Given the description of an element on the screen output the (x, y) to click on. 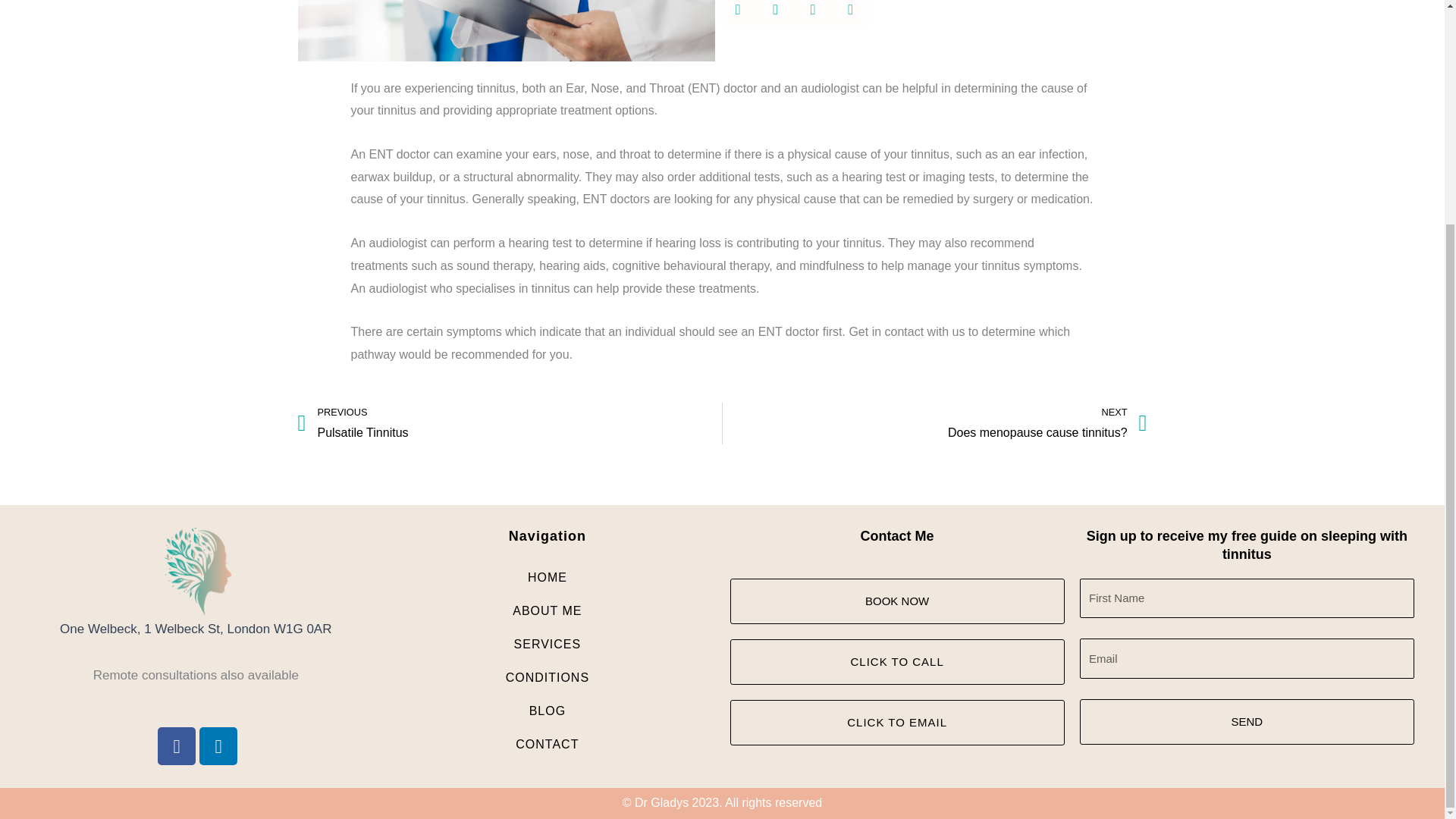
BLOG (547, 711)
HOME (547, 577)
SERVICES (547, 644)
ABOUT ME (547, 611)
Linkedin (218, 745)
CONTACT (547, 744)
BOOK NOW (896, 601)
CONDITIONS (547, 677)
Facebook (934, 423)
